Given the description of an element on the screen output the (x, y) to click on. 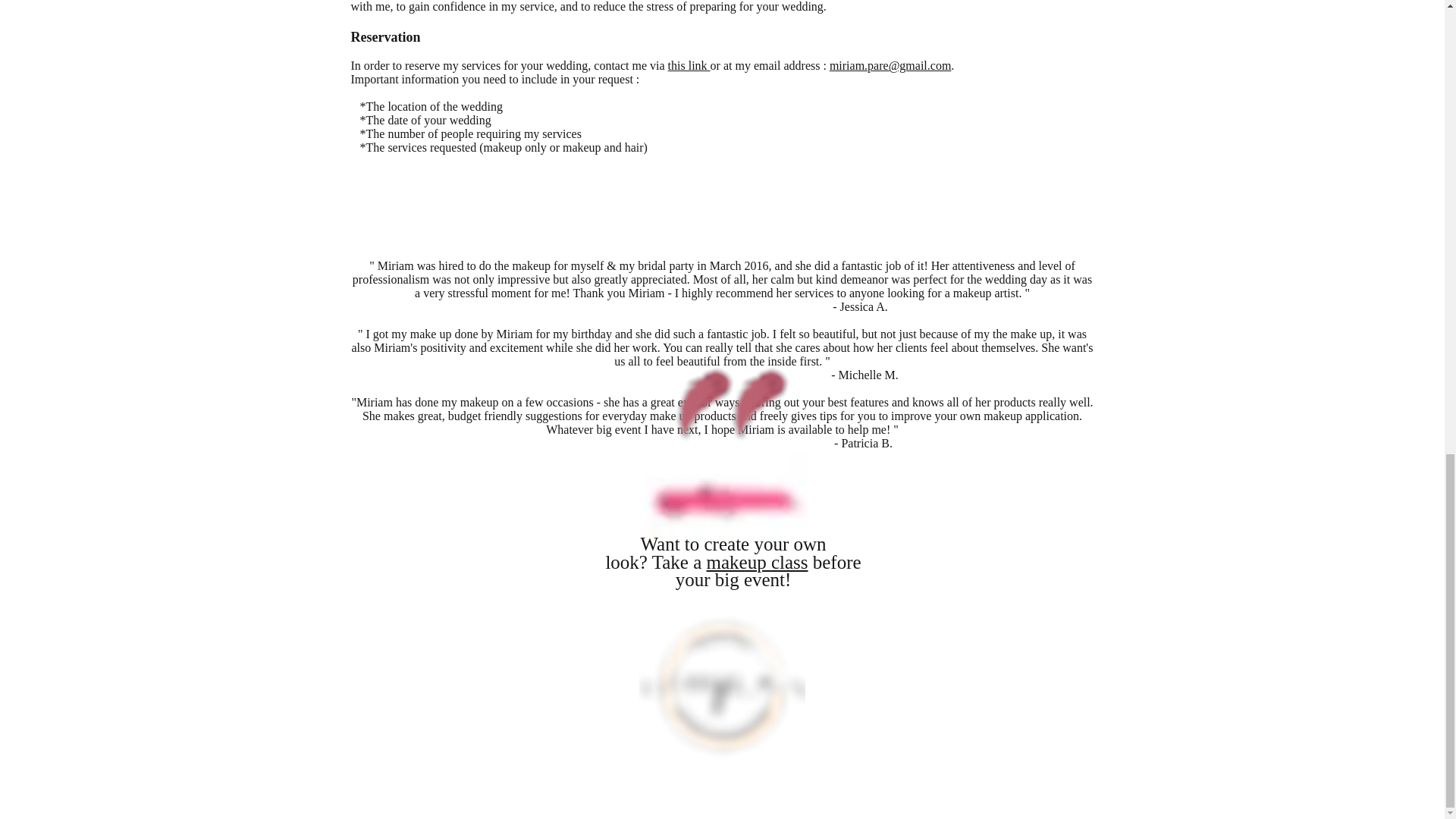
makeup class (757, 561)
this link (689, 65)
 before your big event! (768, 570)
